Given the description of an element on the screen output the (x, y) to click on. 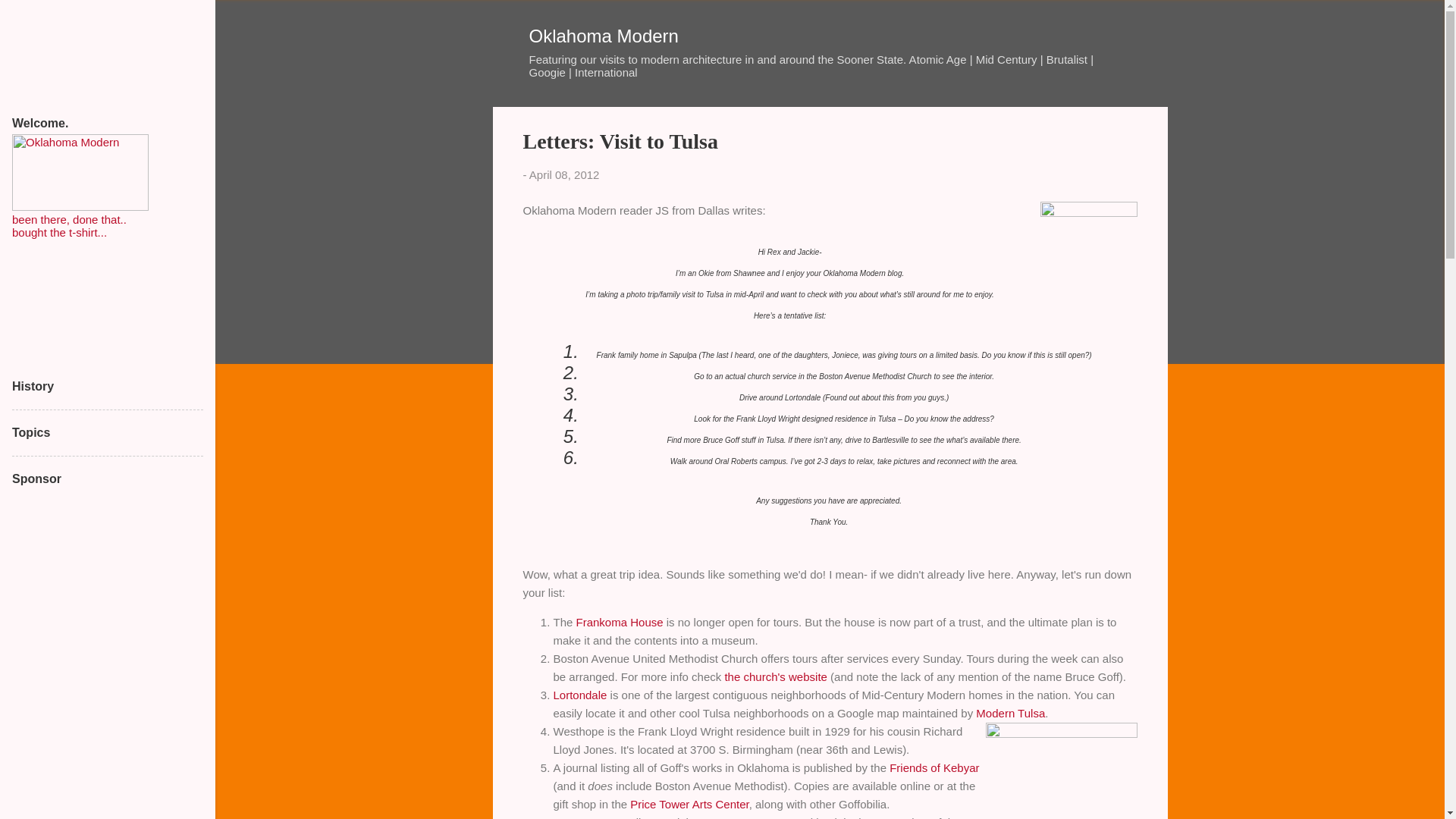
Search (29, 18)
Price Tower Arts Center (689, 803)
Friends of Kebyar (933, 767)
the church's website (775, 676)
Oklahoma Modern (603, 35)
Modern Tulsa (1010, 712)
permanent link (564, 174)
Frankoma House (619, 621)
April 08, 2012 (564, 174)
Lortondale (580, 694)
